Given the description of an element on the screen output the (x, y) to click on. 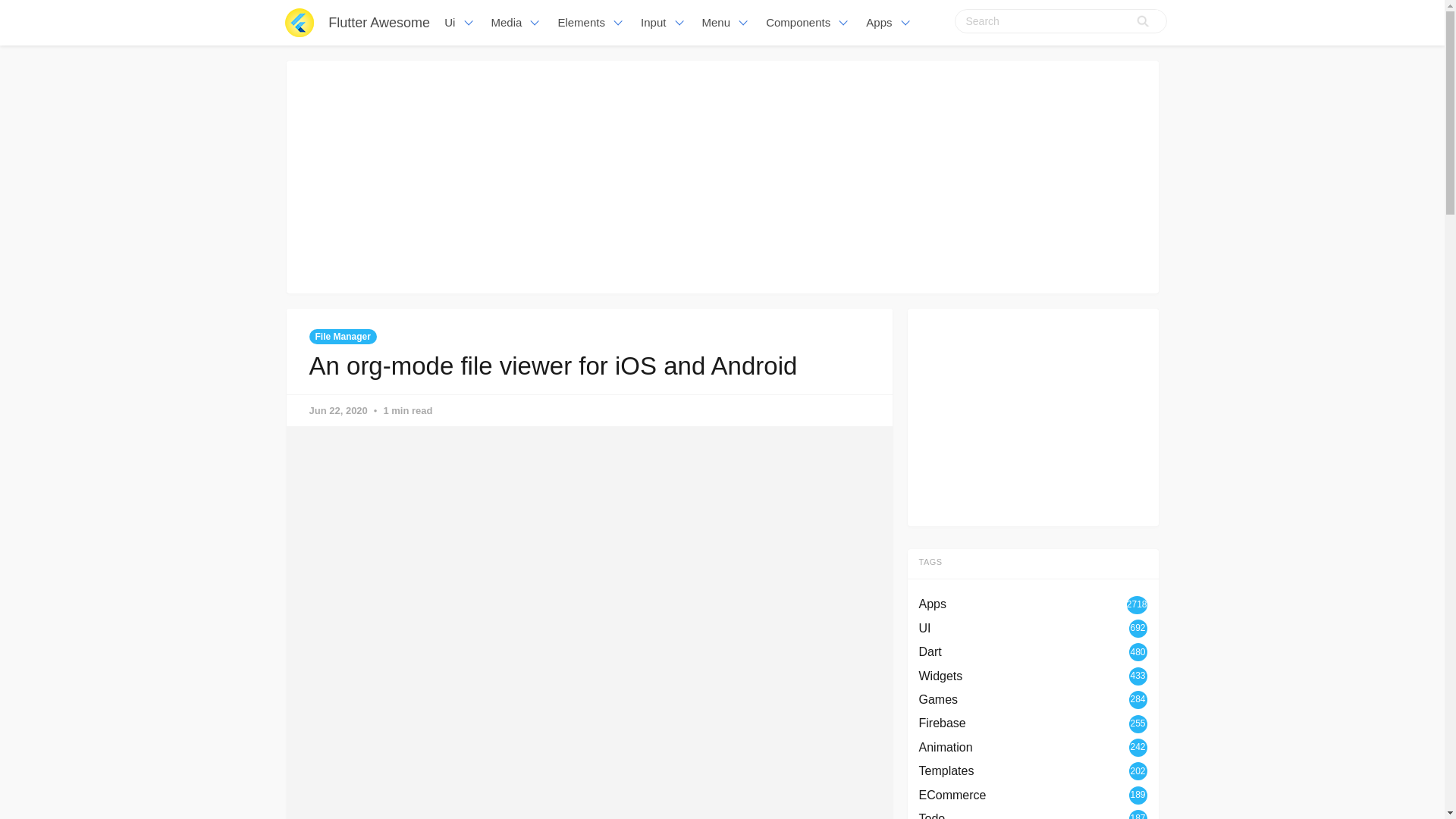
Elements (591, 22)
Media (516, 22)
Flutter Awesome (379, 22)
Ui (460, 22)
Advertisement (1032, 414)
